Given the description of an element on the screen output the (x, y) to click on. 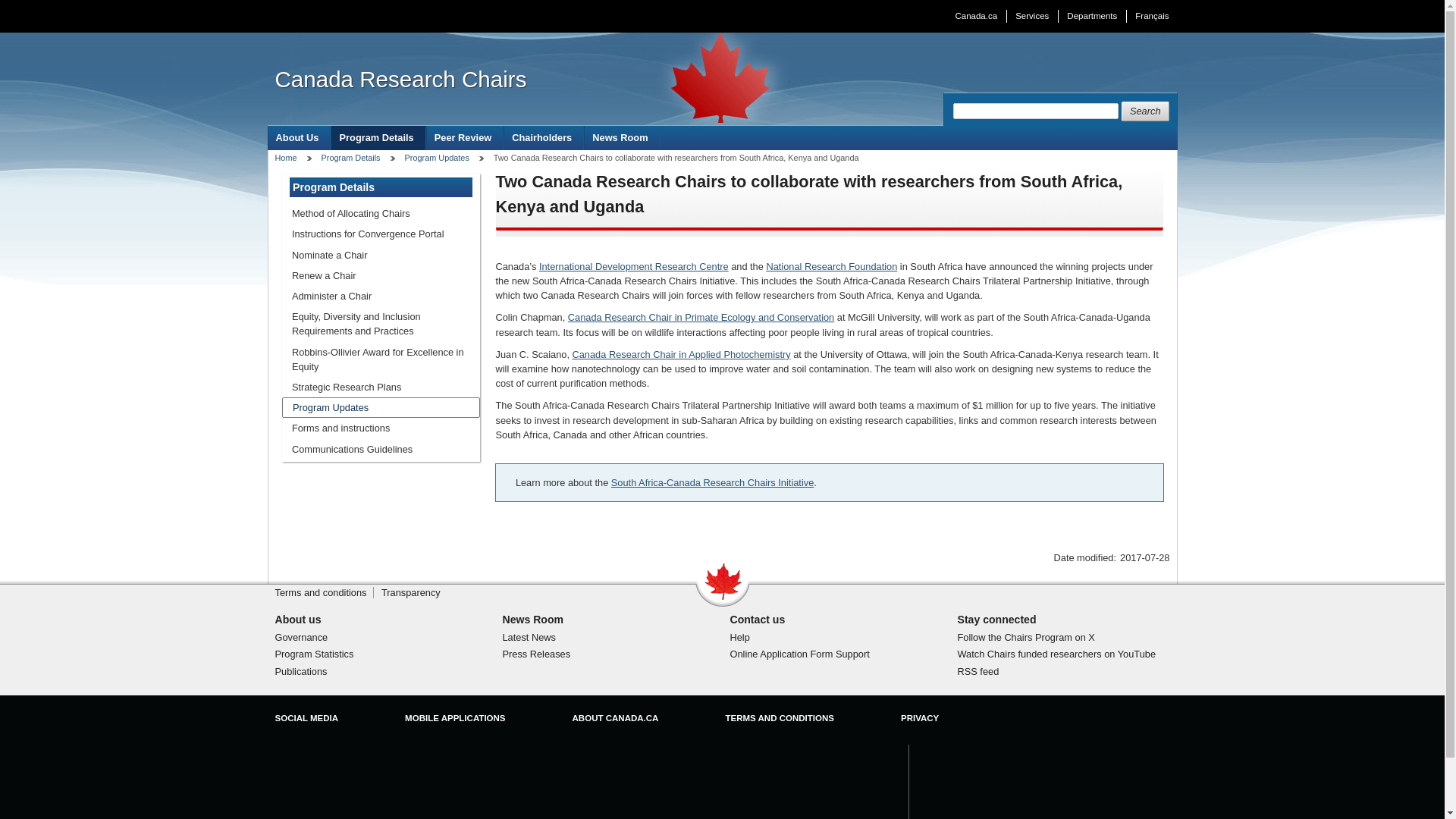
About Us (298, 137)
Program Updates (381, 407)
Skip to main content (726, 11)
Strategic Research Plans (381, 386)
Communications Guidelines (381, 448)
Administer a Chair (381, 295)
Peer Review (464, 137)
Instructions for Convergence Portal (381, 233)
Canada Research Chairs (400, 79)
Robbins-Ollivier Award for Excellence in Equity (381, 359)
Equity, Diversity and Inclusion Requirements and Practices (381, 323)
Method of Allocating Chairs (381, 213)
Search (1145, 111)
Forms and instructions (381, 427)
Canada.ca (976, 15)
